Given the description of an element on the screen output the (x, y) to click on. 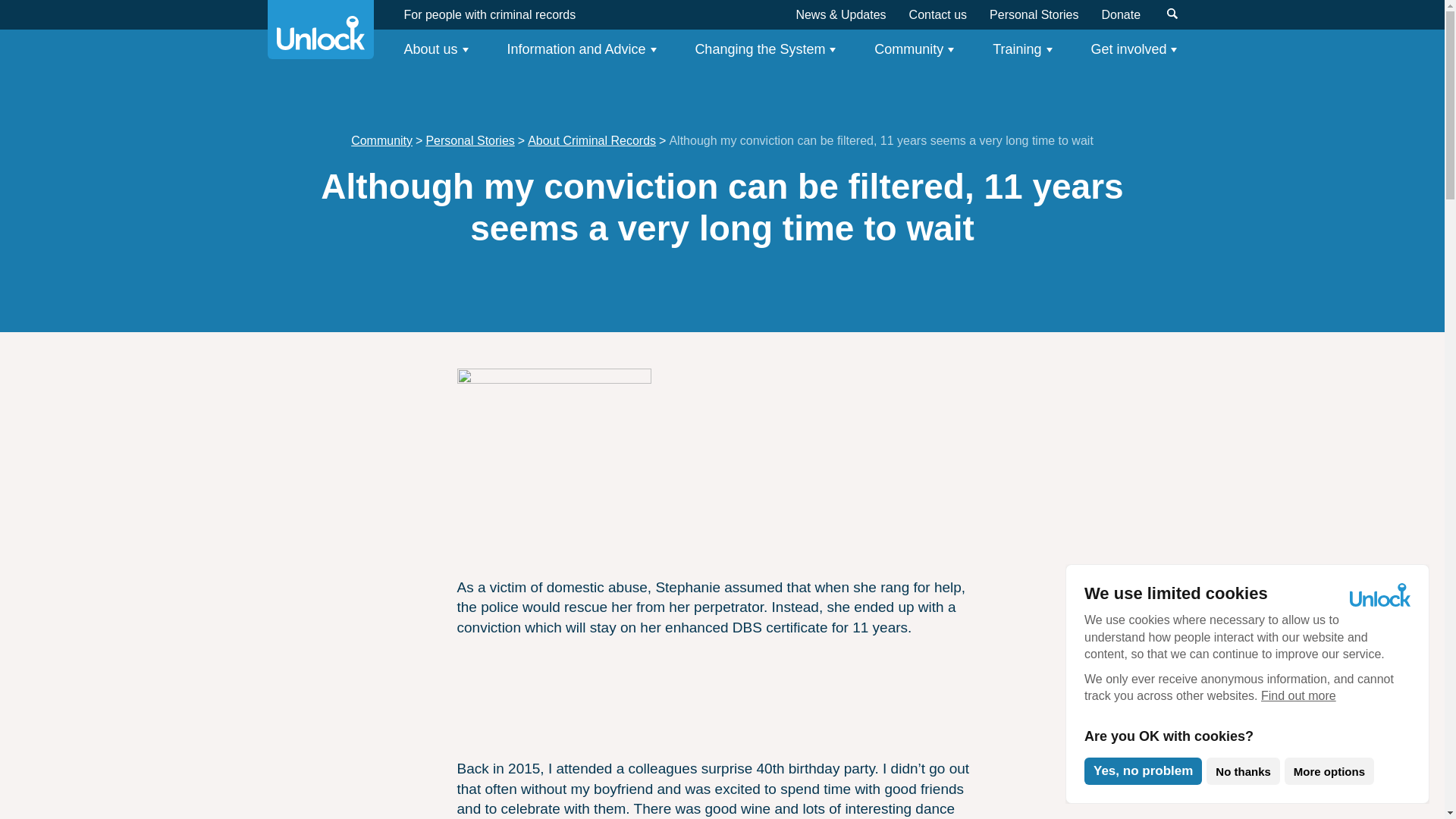
Contact us (937, 14)
Changing the System (764, 49)
Personal Stories (1034, 14)
About us (435, 49)
Information and Advice (581, 49)
Donate (1120, 14)
